Given the description of an element on the screen output the (x, y) to click on. 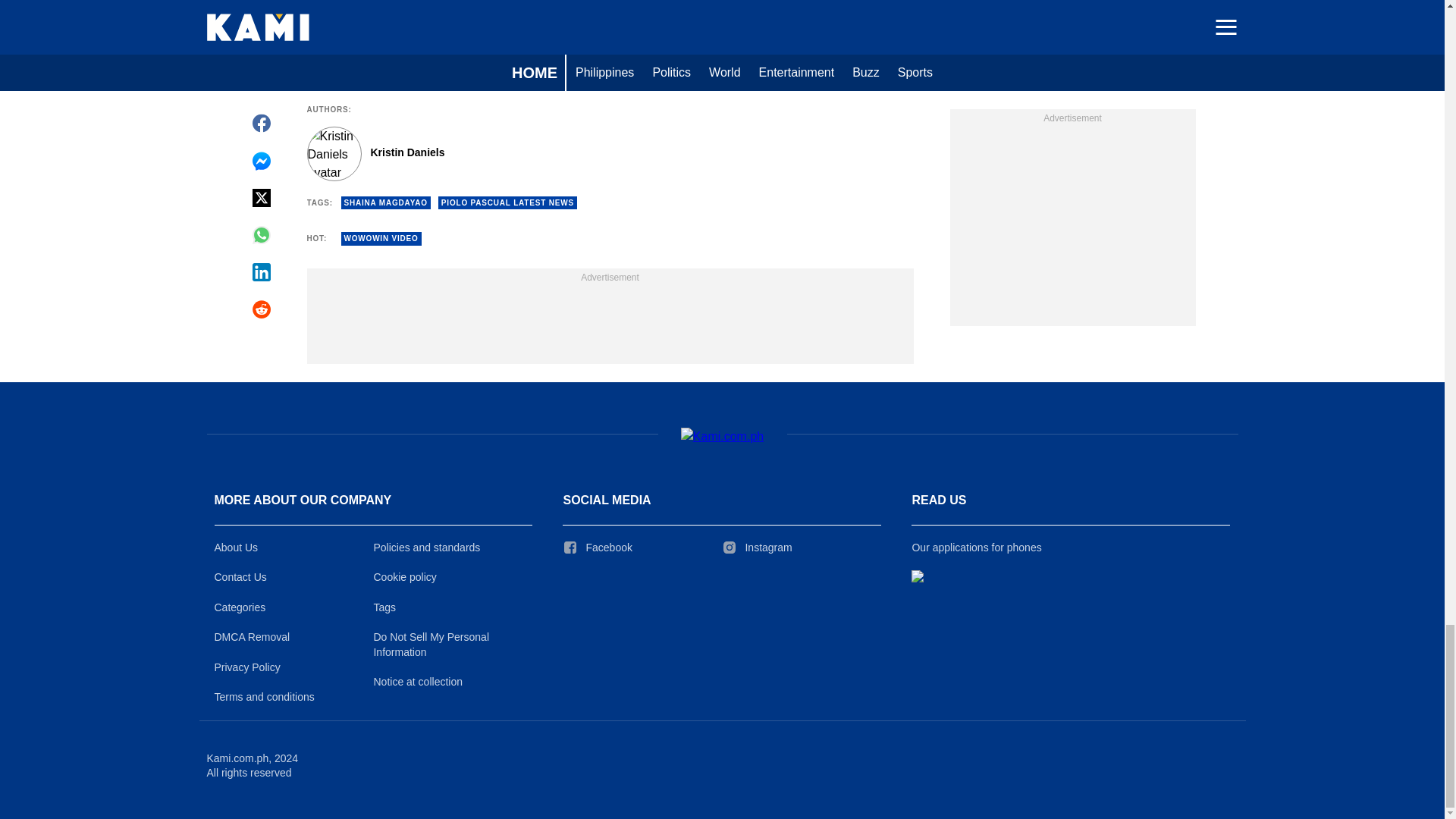
Author page (533, 153)
